Given the description of an element on the screen output the (x, y) to click on. 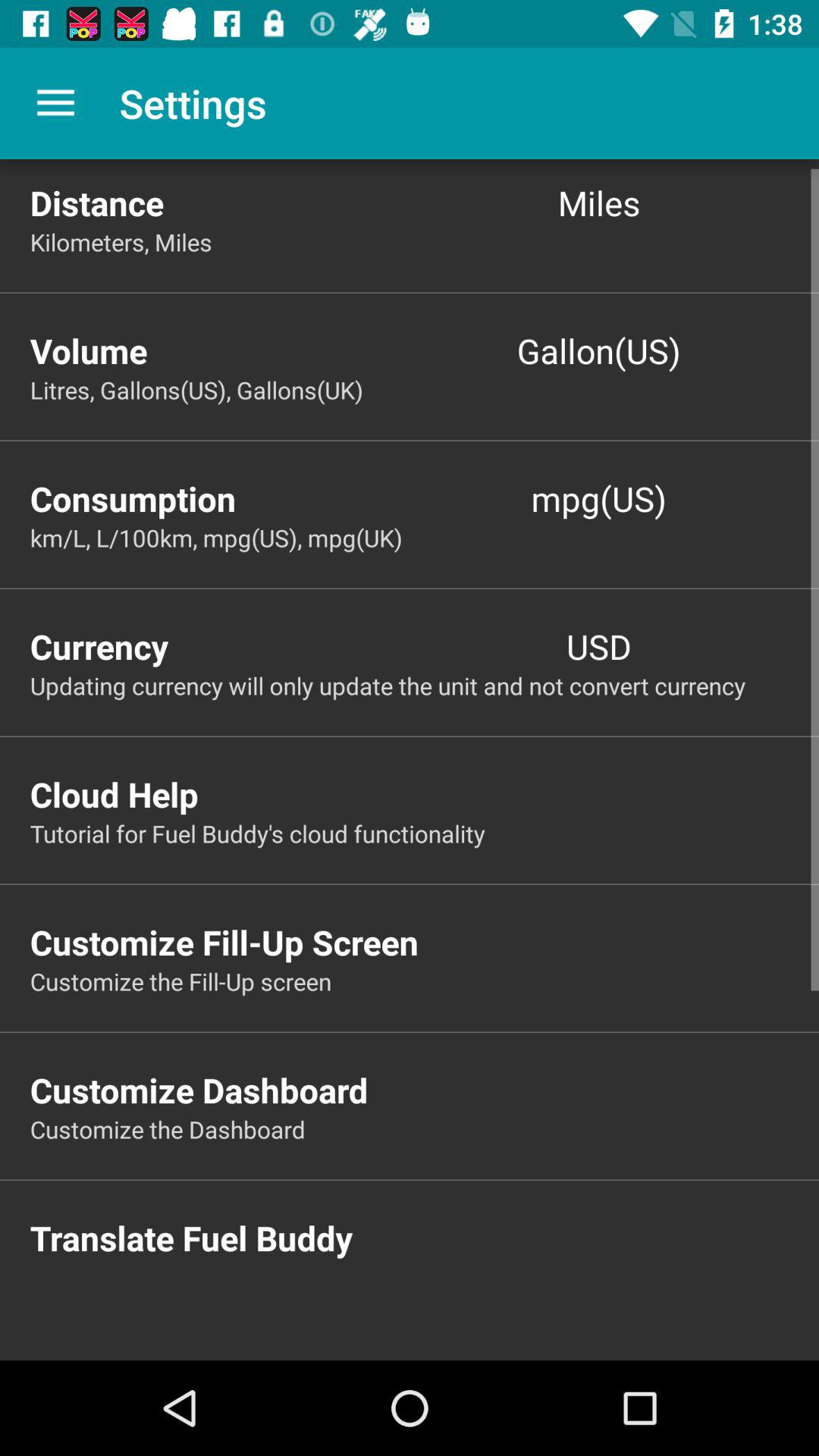
flip to the consumption (219, 498)
